Given the description of an element on the screen output the (x, y) to click on. 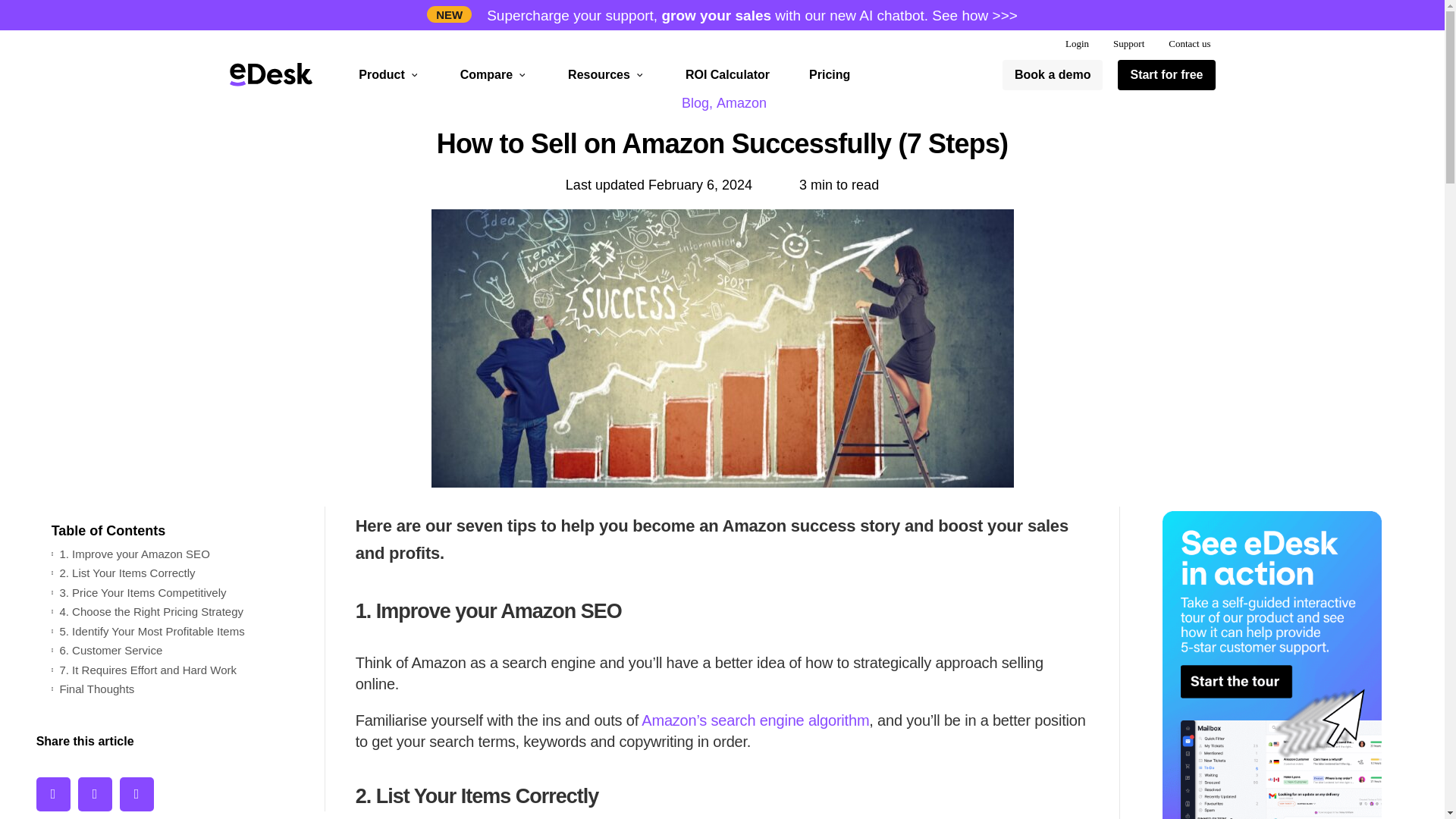
Login (1077, 43)
Book a demo (1052, 74)
Pricing (829, 74)
Contact us (1189, 43)
Support (1128, 43)
Start for free (1165, 74)
ROI Calculator (727, 74)
